Given the description of an element on the screen output the (x, y) to click on. 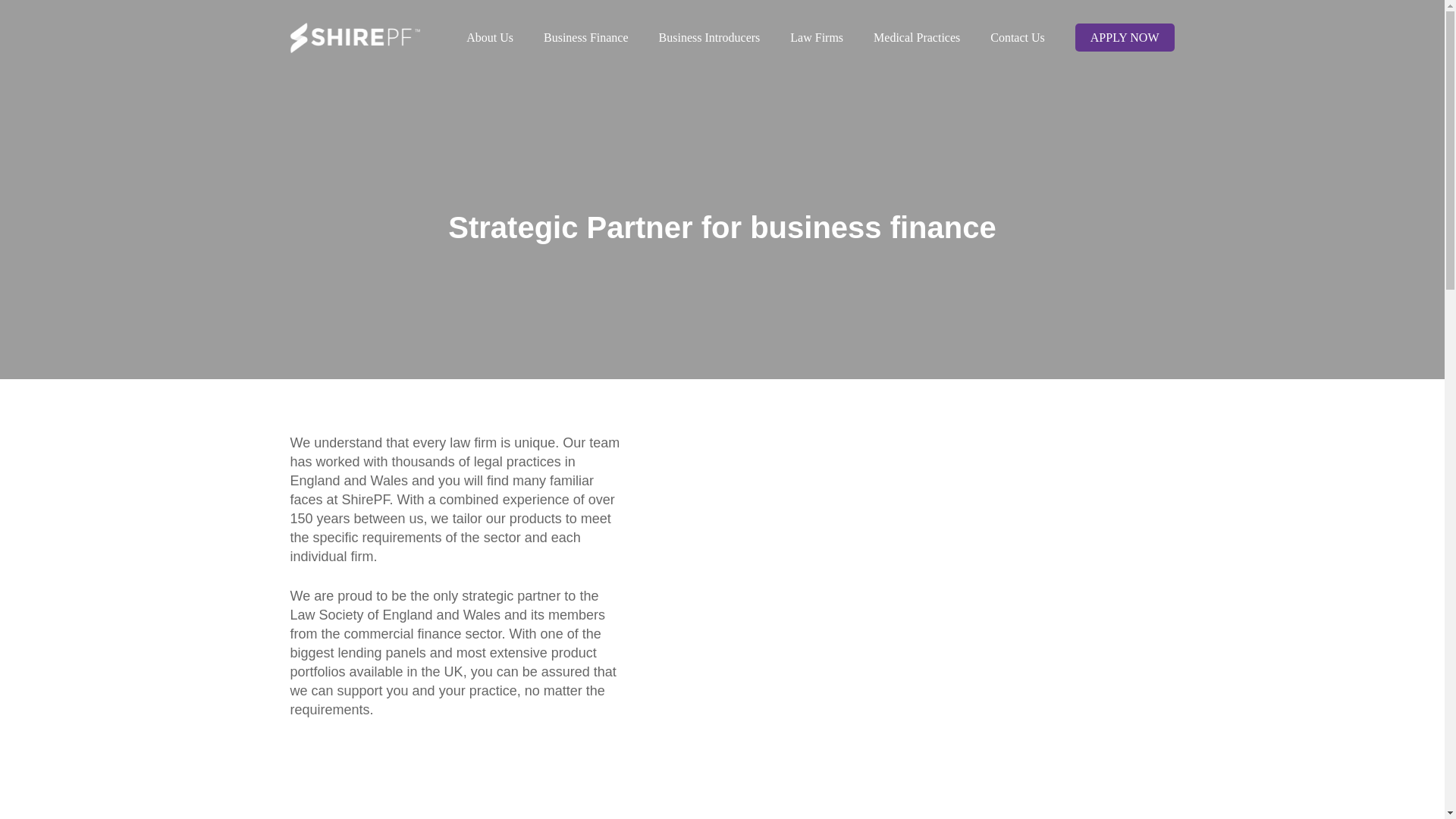
Medical Practices (917, 37)
APPLY NOW (1124, 37)
About Us (489, 37)
Business Introducers (709, 37)
Contact Us (1017, 37)
Business Finance (585, 37)
Law Firms (816, 37)
